Given the description of an element on the screen output the (x, y) to click on. 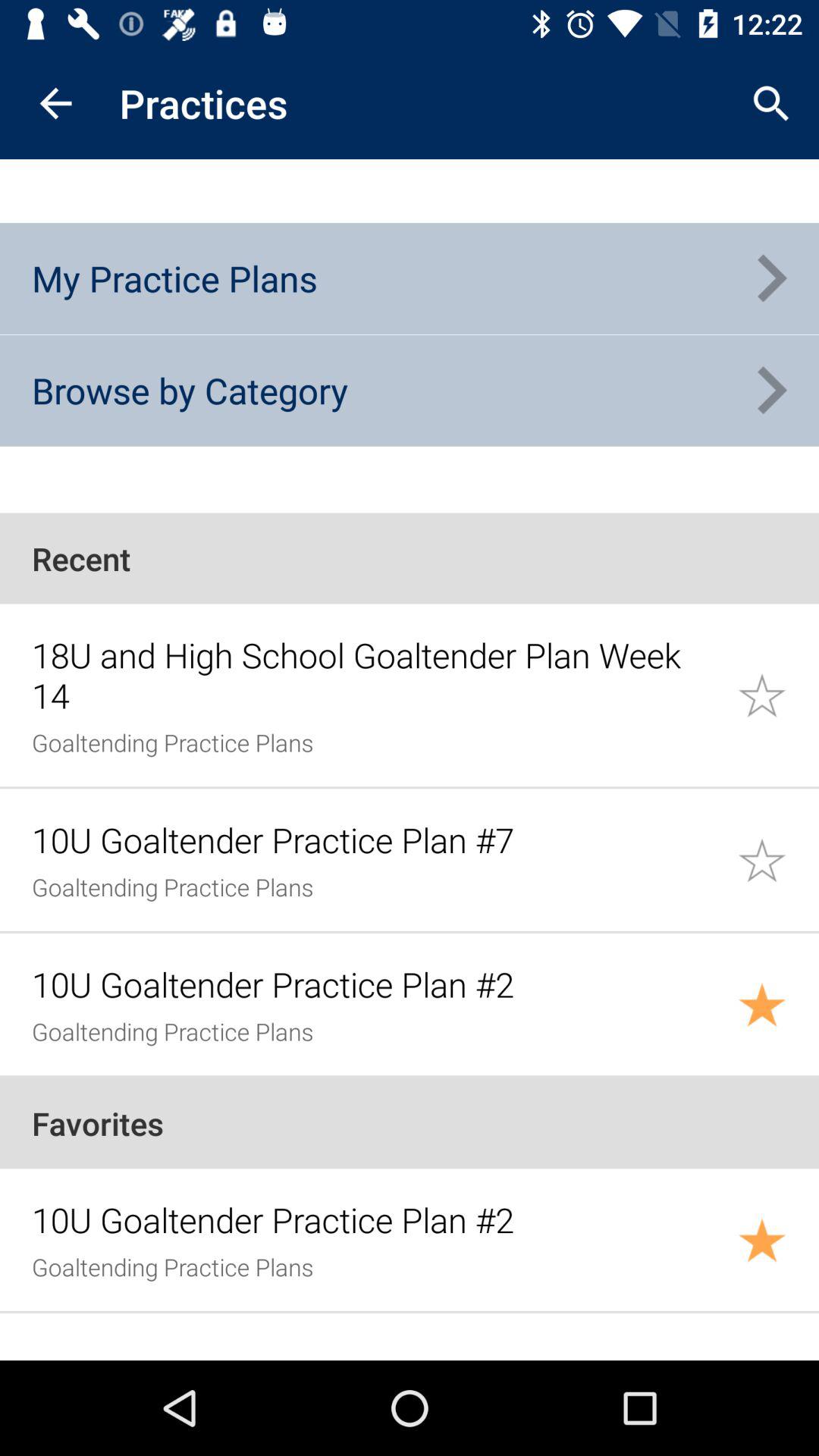
choose item below the my practice plans item (189, 390)
